Given the description of an element on the screen output the (x, y) to click on. 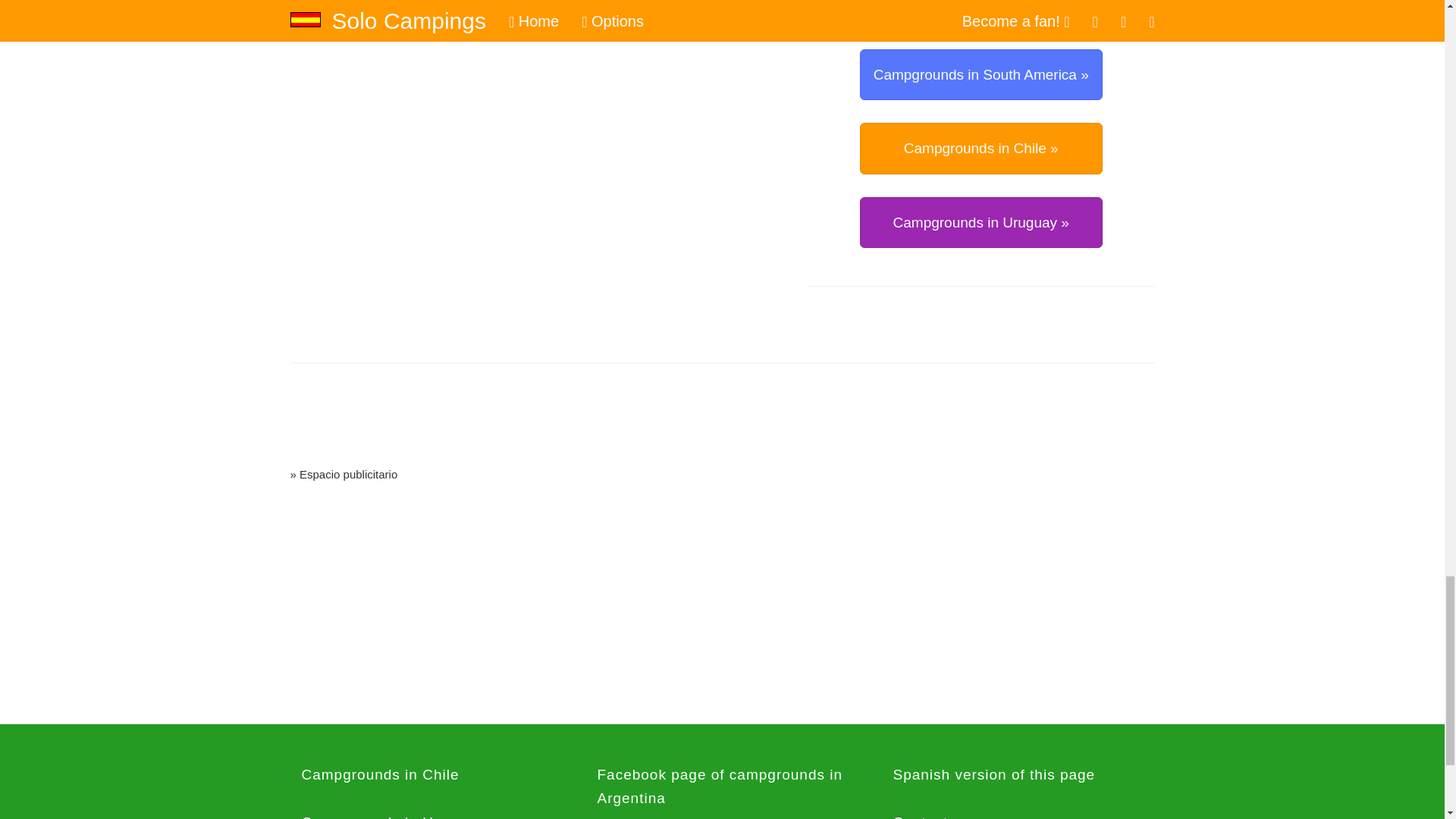
Facebook page of campgrounds in Argentina (722, 786)
Contact us (1017, 811)
Spanish version of this page (1017, 774)
Campgrounds in Uruguay (425, 811)
Campgrounds in Chile (425, 774)
